Given the description of an element on the screen output the (x, y) to click on. 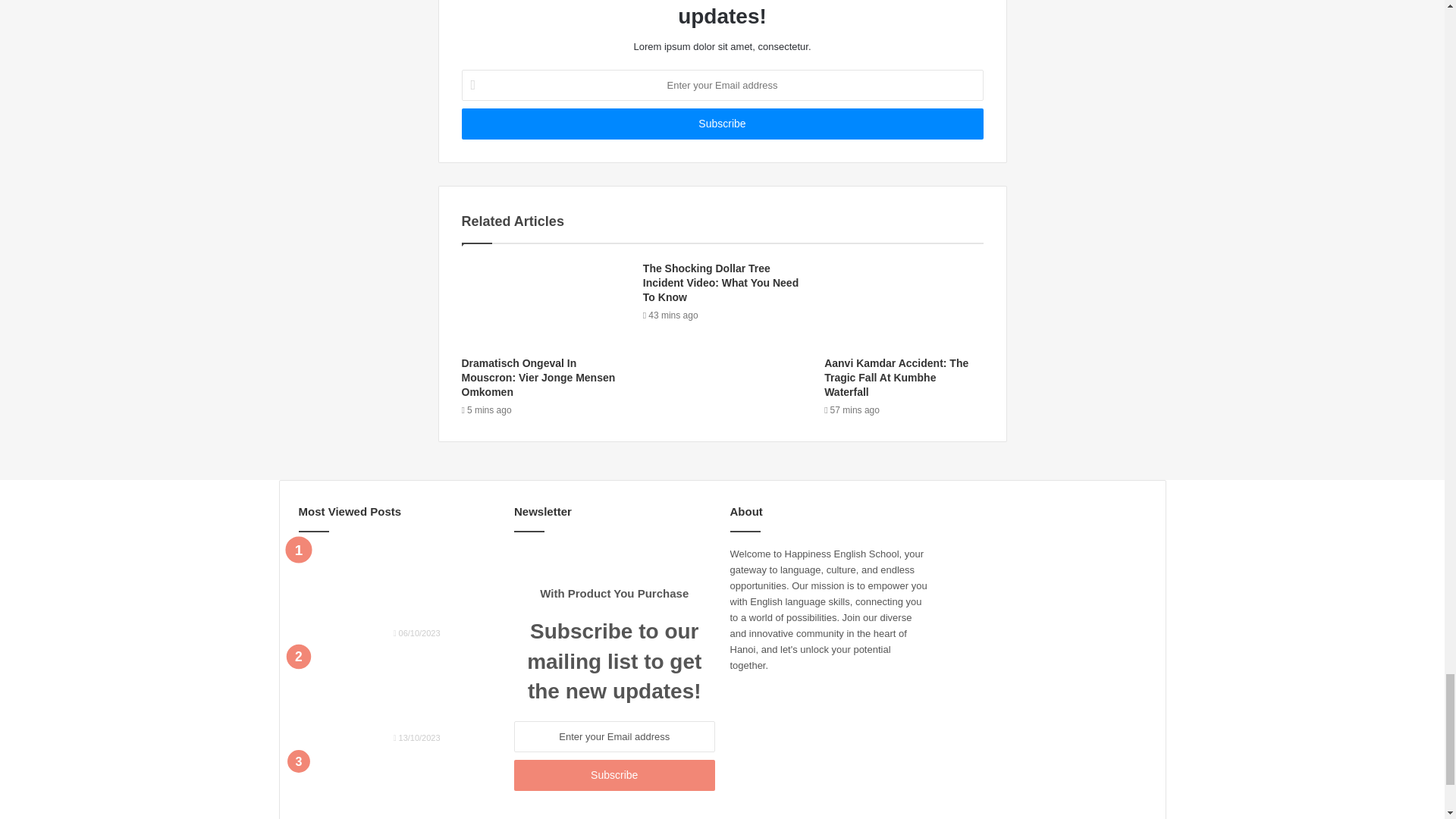
Subscribe (613, 775)
Subscribe (721, 123)
